Given the description of an element on the screen output the (x, y) to click on. 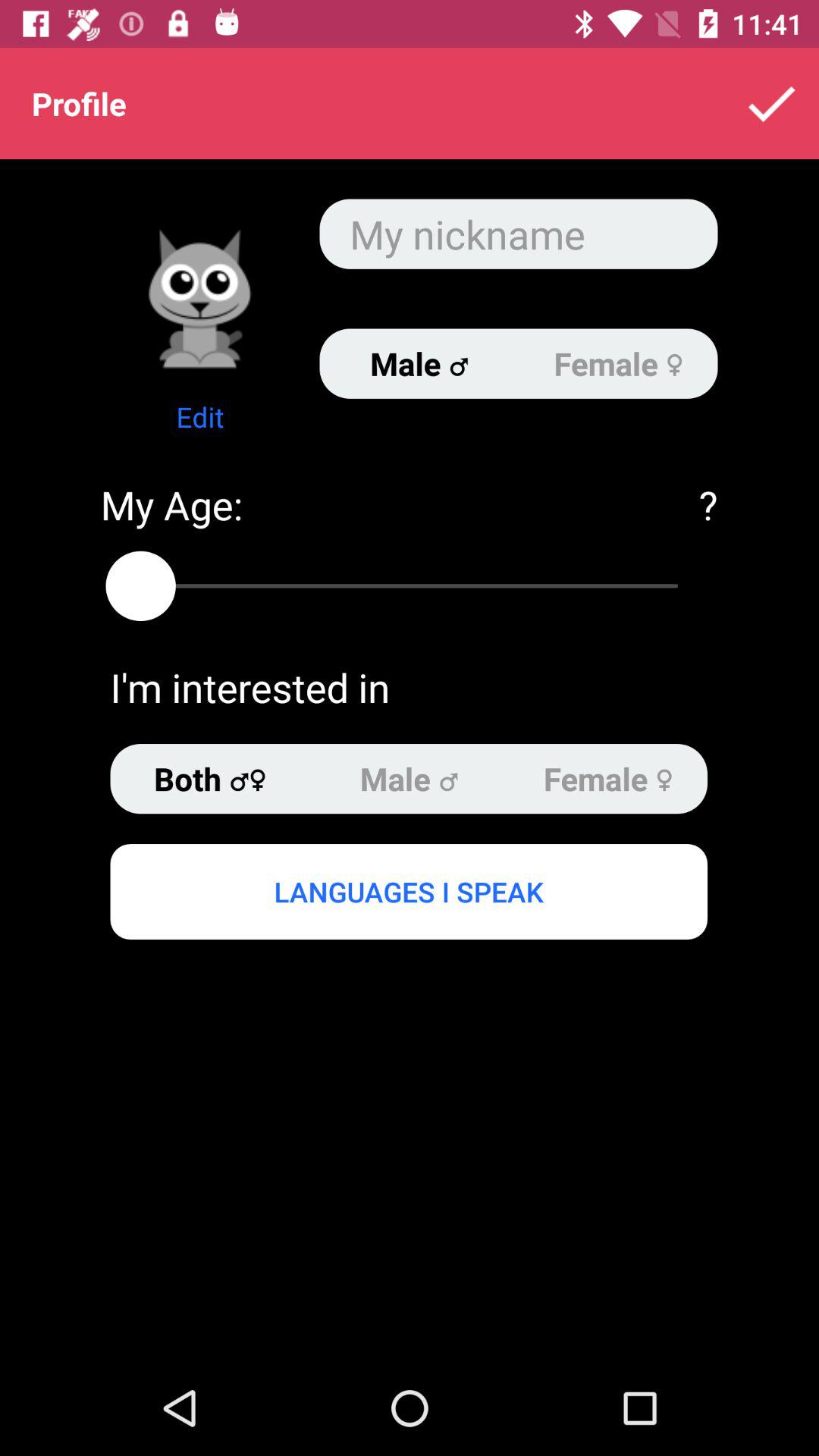
launch the item above languages i speak item (209, 778)
